Given the description of an element on the screen output the (x, y) to click on. 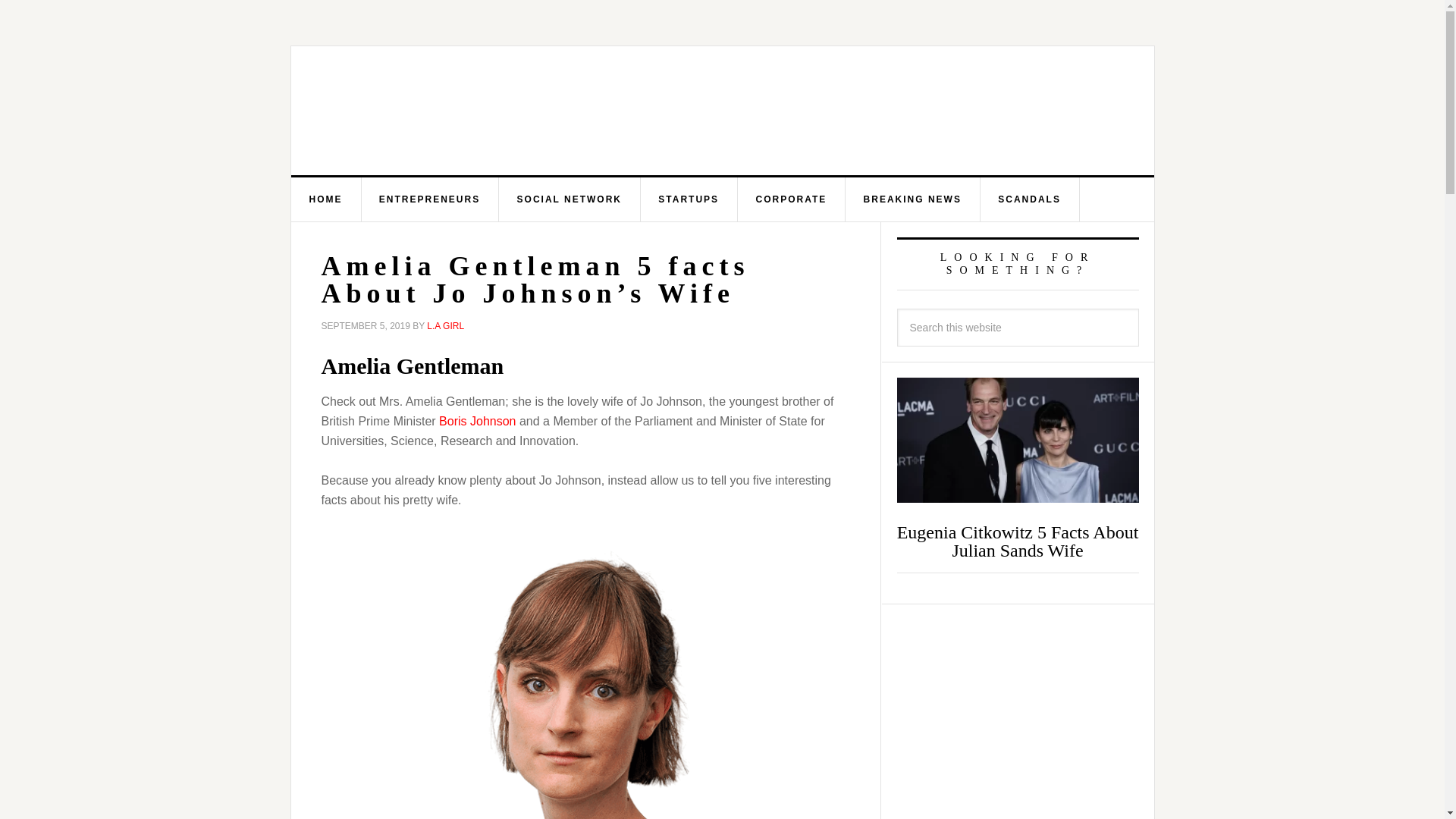
Advertisement (835, 110)
ENTREPRENEURS (430, 199)
SOCIAL NETWORK (569, 199)
HOME (326, 199)
L.A GIRL (445, 326)
STARTUPS (689, 199)
WAGCENTER.COM (442, 110)
BREAKING NEWS (912, 199)
SCANDALS (1029, 199)
